Given the description of an element on the screen output the (x, y) to click on. 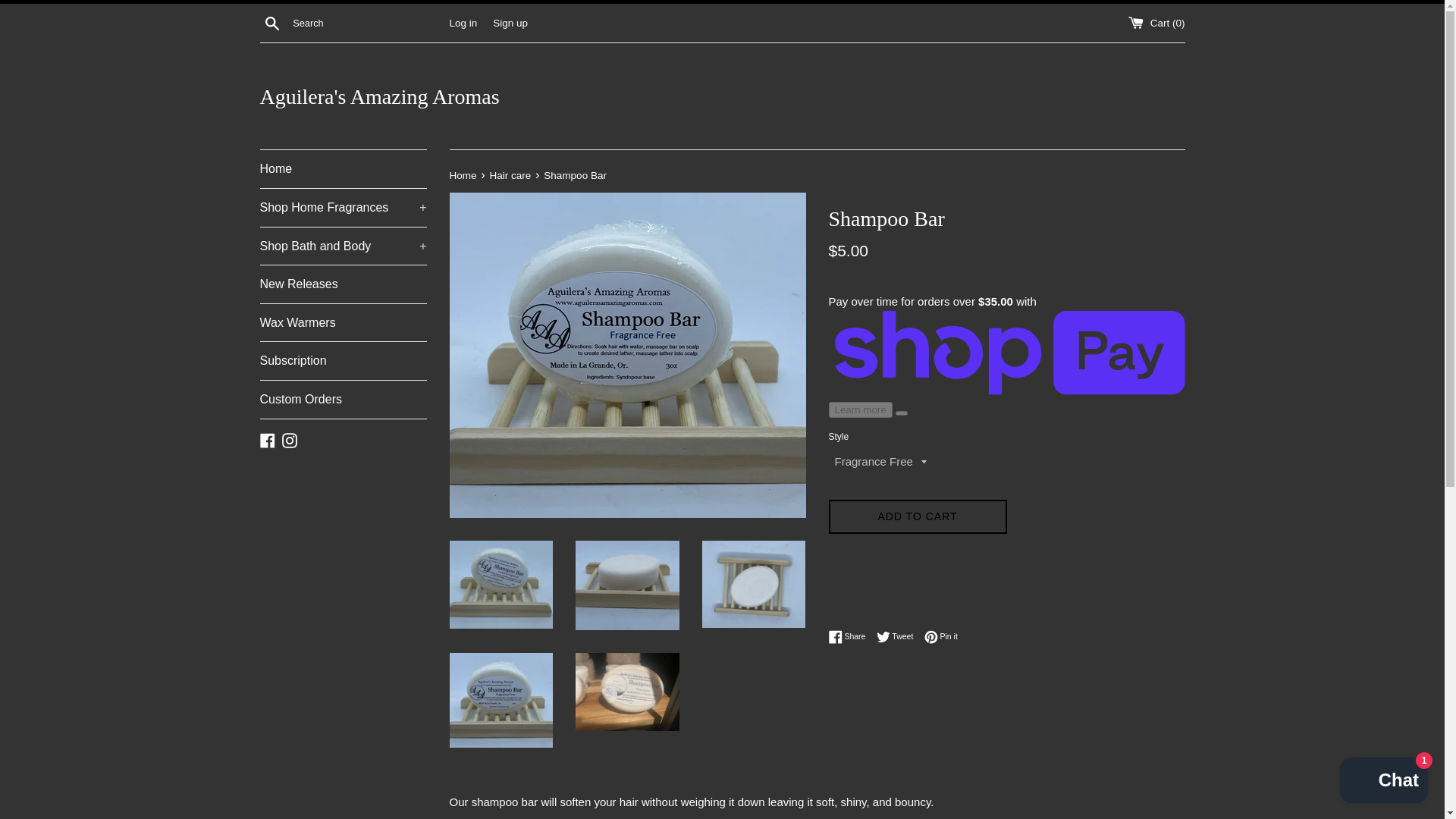
Aguilera's Amazing Aromas on Facebook (267, 439)
New Releases (342, 284)
Share on Facebook (898, 636)
Wax Warmers (850, 636)
Sign up (342, 322)
Aguilera's Amazing Aromas (510, 21)
ADD TO CART (722, 96)
Custom Orders (917, 516)
Back to the frontpage (850, 636)
Hair care (342, 399)
Subscription (463, 174)
Aguilera's Amazing Aromas on Instagram (511, 174)
Home (342, 361)
